Given the description of an element on the screen output the (x, y) to click on. 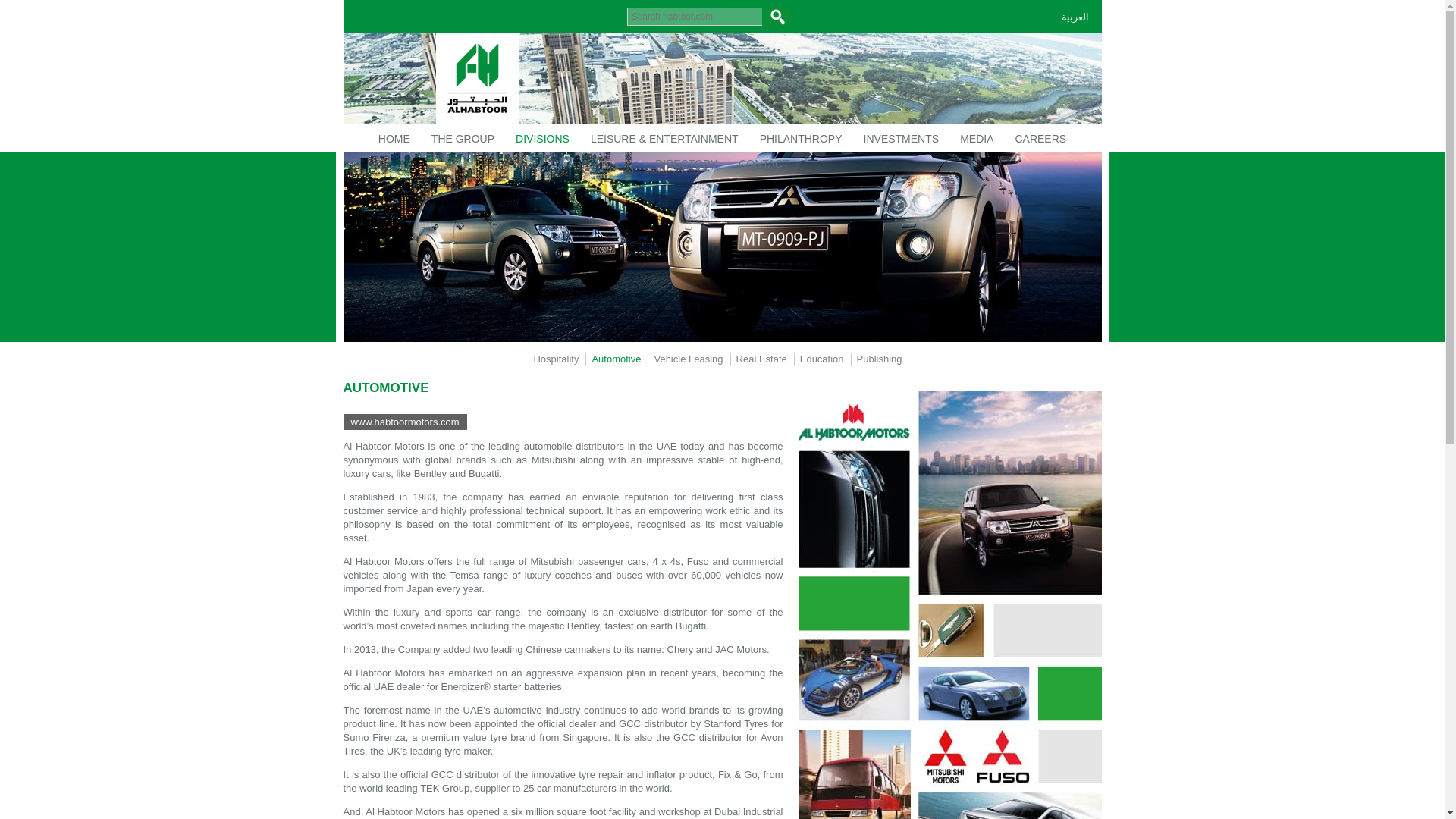
HOME (394, 139)
THE GROUP (462, 139)
